Given the description of an element on the screen output the (x, y) to click on. 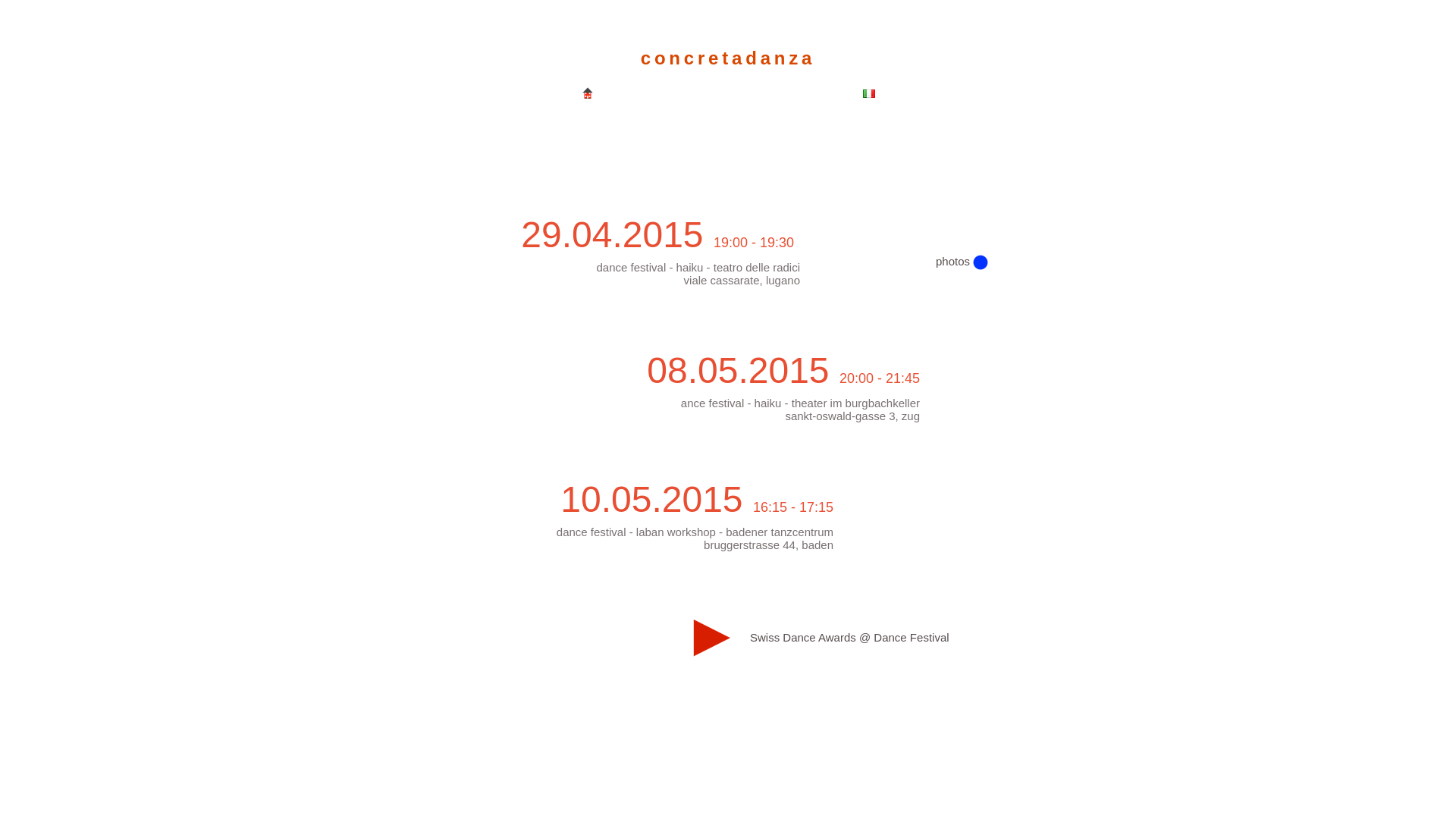
../it/festa_danzante_2015.html Element type: hover (868, 93)
concretadanza.html Element type: hover (587, 93)
photos Element type: text (952, 260)
Swiss Dance Awards @ Dance Festival Element type: text (849, 636)
